Given the description of an element on the screen output the (x, y) to click on. 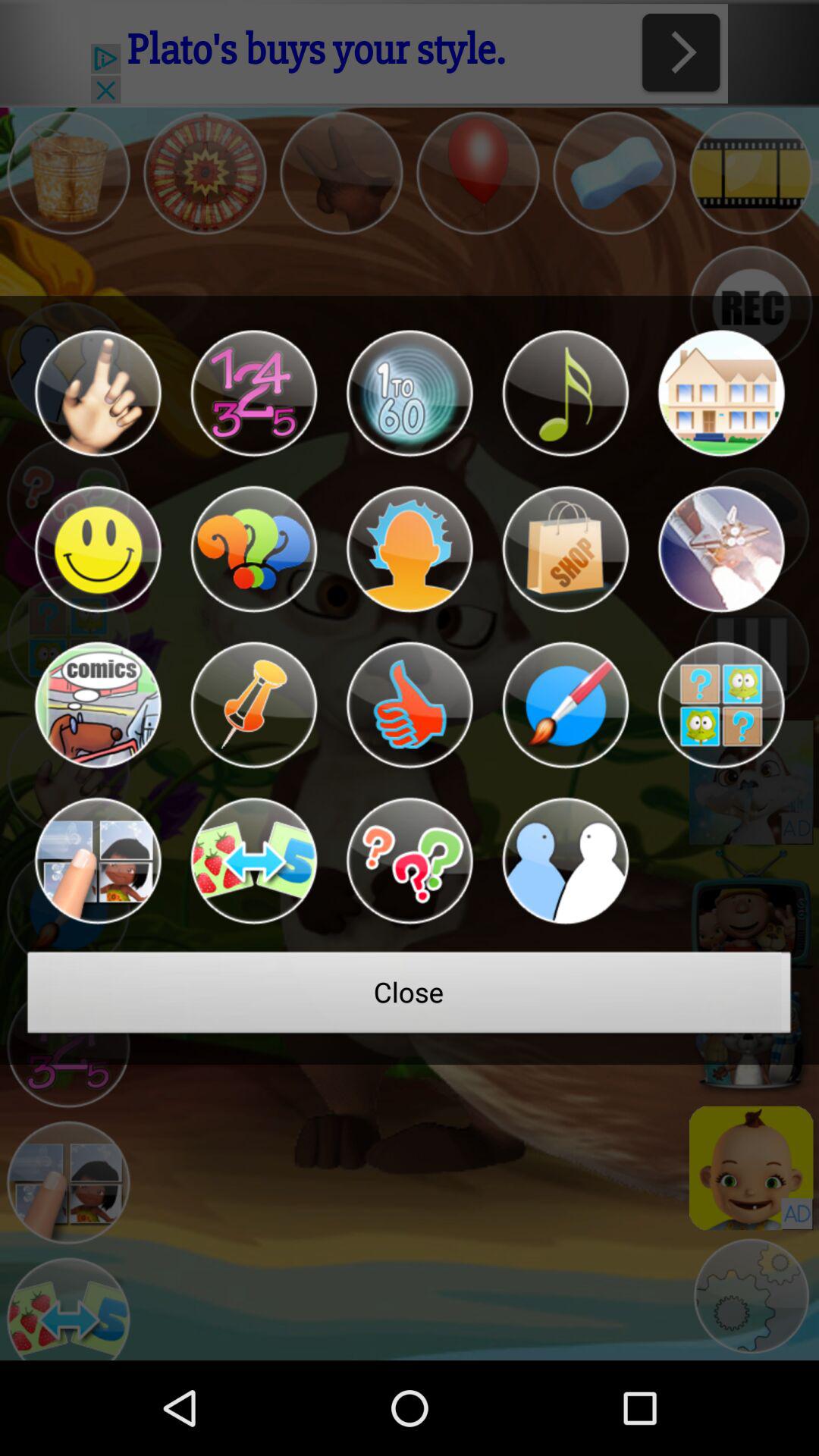
count (409, 393)
